Given the description of an element on the screen output the (x, y) to click on. 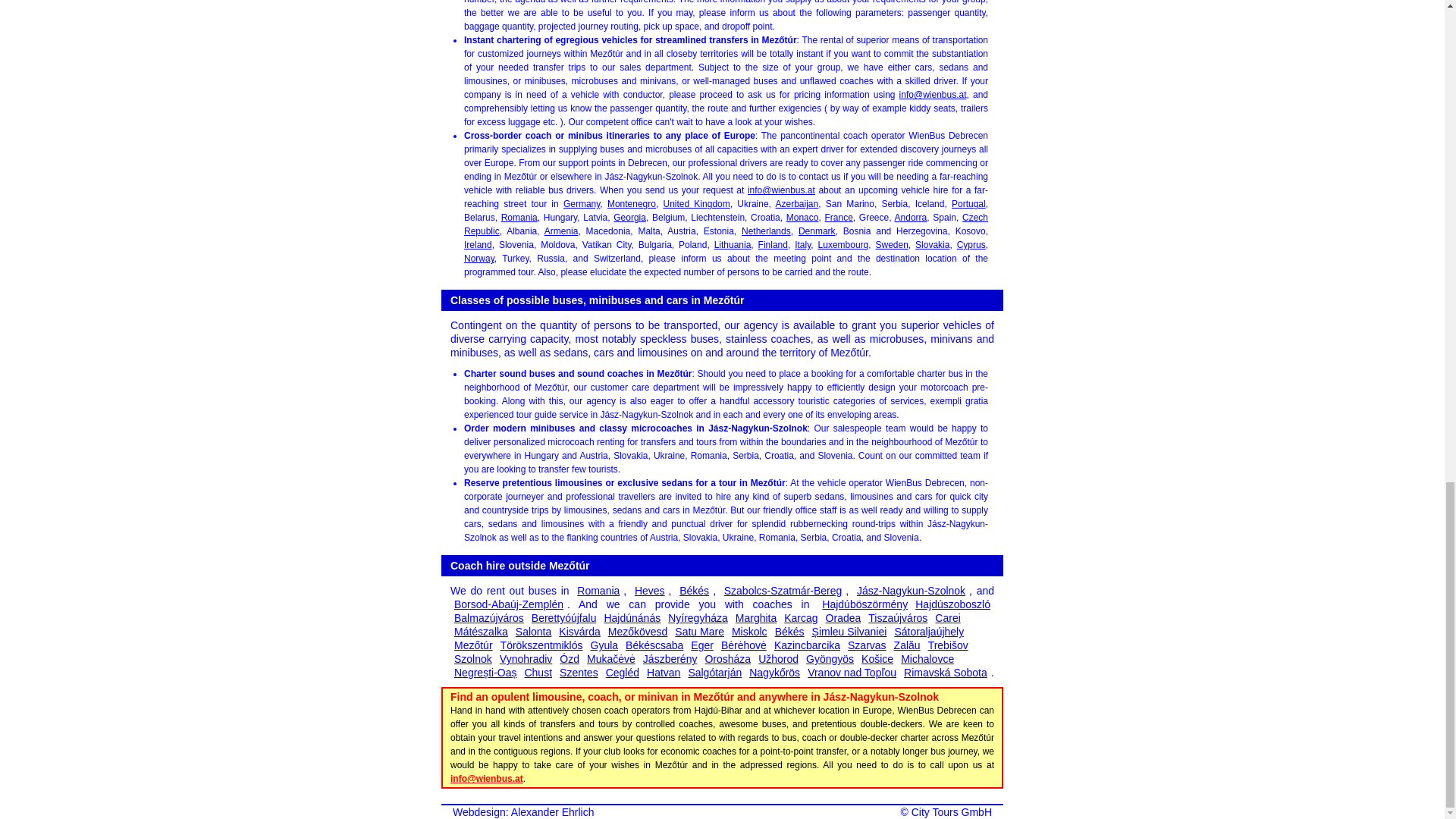
Germany (581, 204)
Ireland (478, 244)
rental buses Monaco - charter a bus (802, 217)
Italy (802, 244)
Azerbaijan (796, 204)
rent a coach Montenegro: book buses (631, 204)
United Kingdom (695, 204)
Denmark (816, 231)
rental buses Portugal rent coaches (968, 204)
rent buses Georgia, charter buses (629, 217)
